Given the description of an element on the screen output the (x, y) to click on. 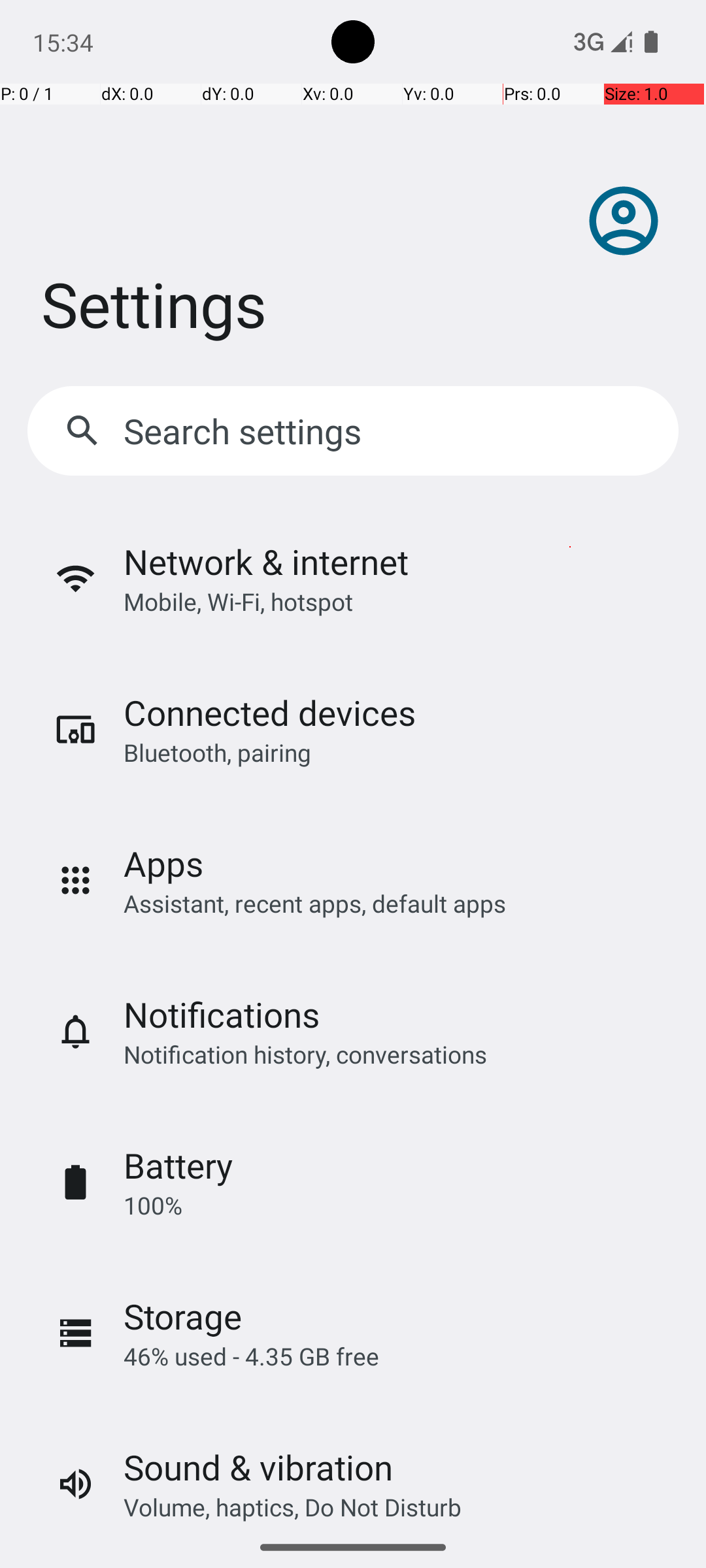
46% used - 4.35 GB free Element type: android.widget.TextView (251, 1355)
